Given the description of an element on the screen output the (x, y) to click on. 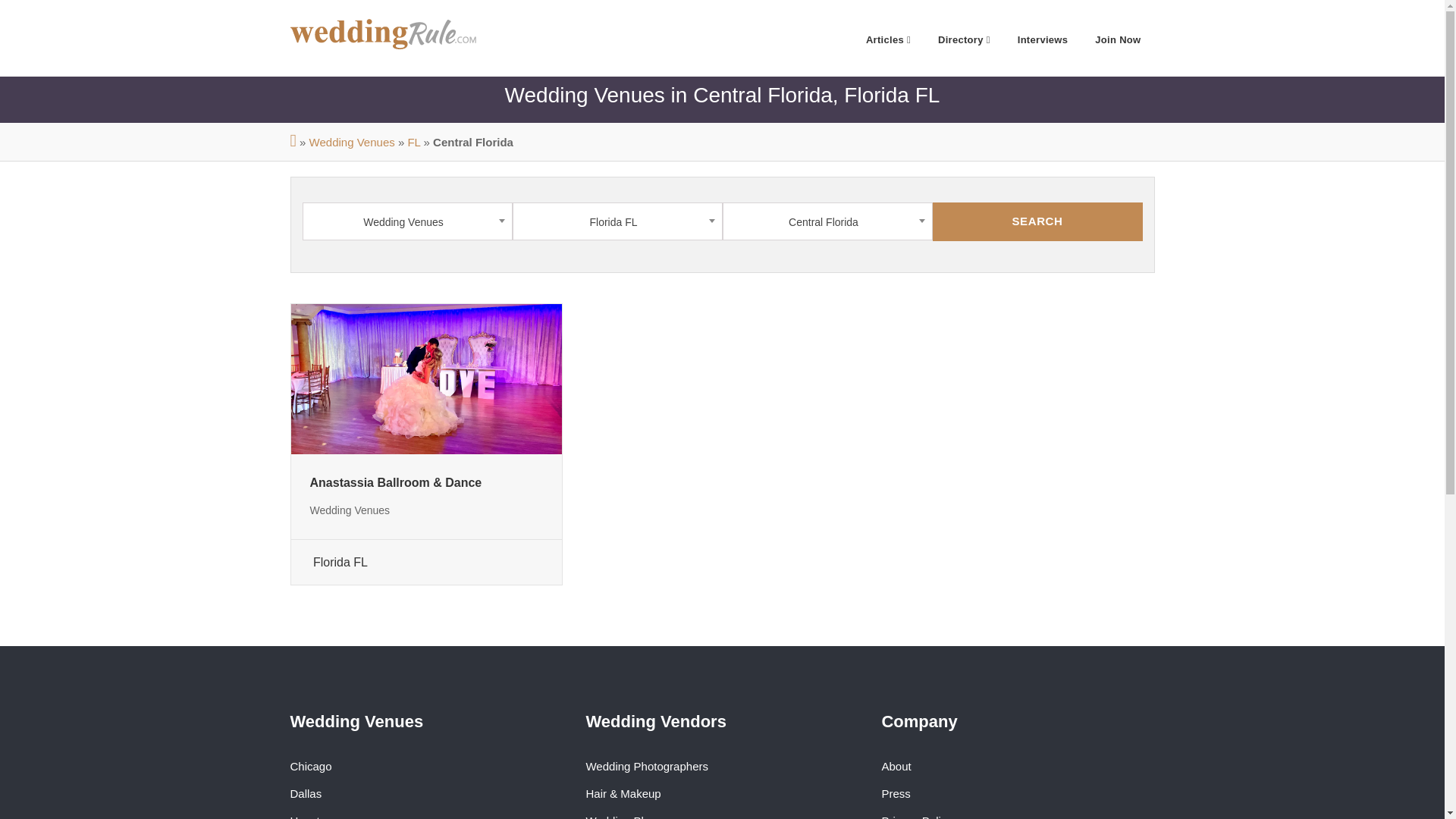
SEARCH (1037, 221)
Join Now (1117, 38)
Chicago (310, 766)
Directory (964, 38)
Wedding Venues (407, 221)
Central Florida (827, 221)
FL (413, 141)
Florida FL (616, 221)
Wedding Venues (351, 141)
Articles (887, 38)
Interviews (1042, 38)
